Given the description of an element on the screen output the (x, y) to click on. 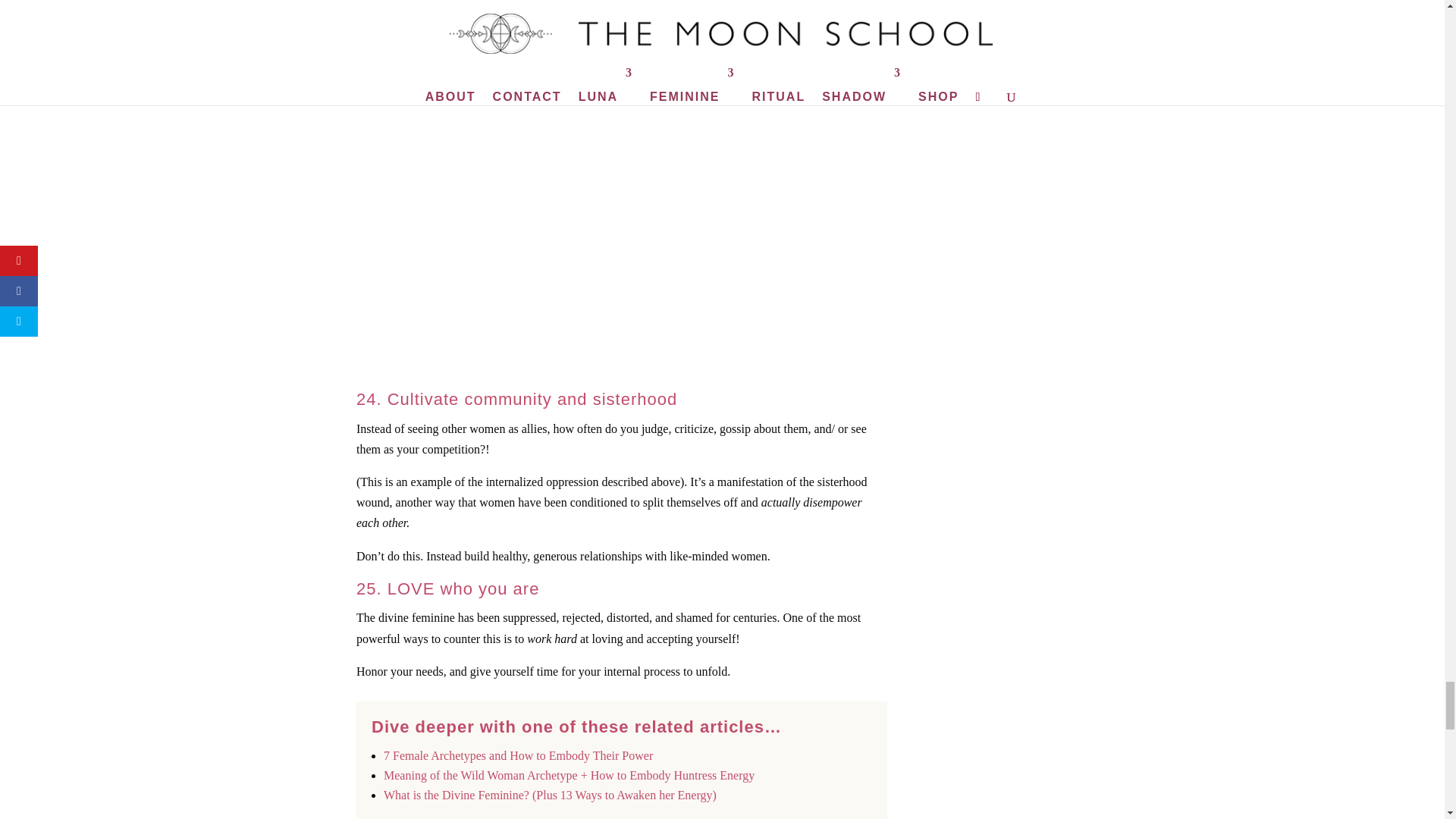
7 Female Archetypes and How to Embody Their Power (518, 755)
